Given the description of an element on the screen output the (x, y) to click on. 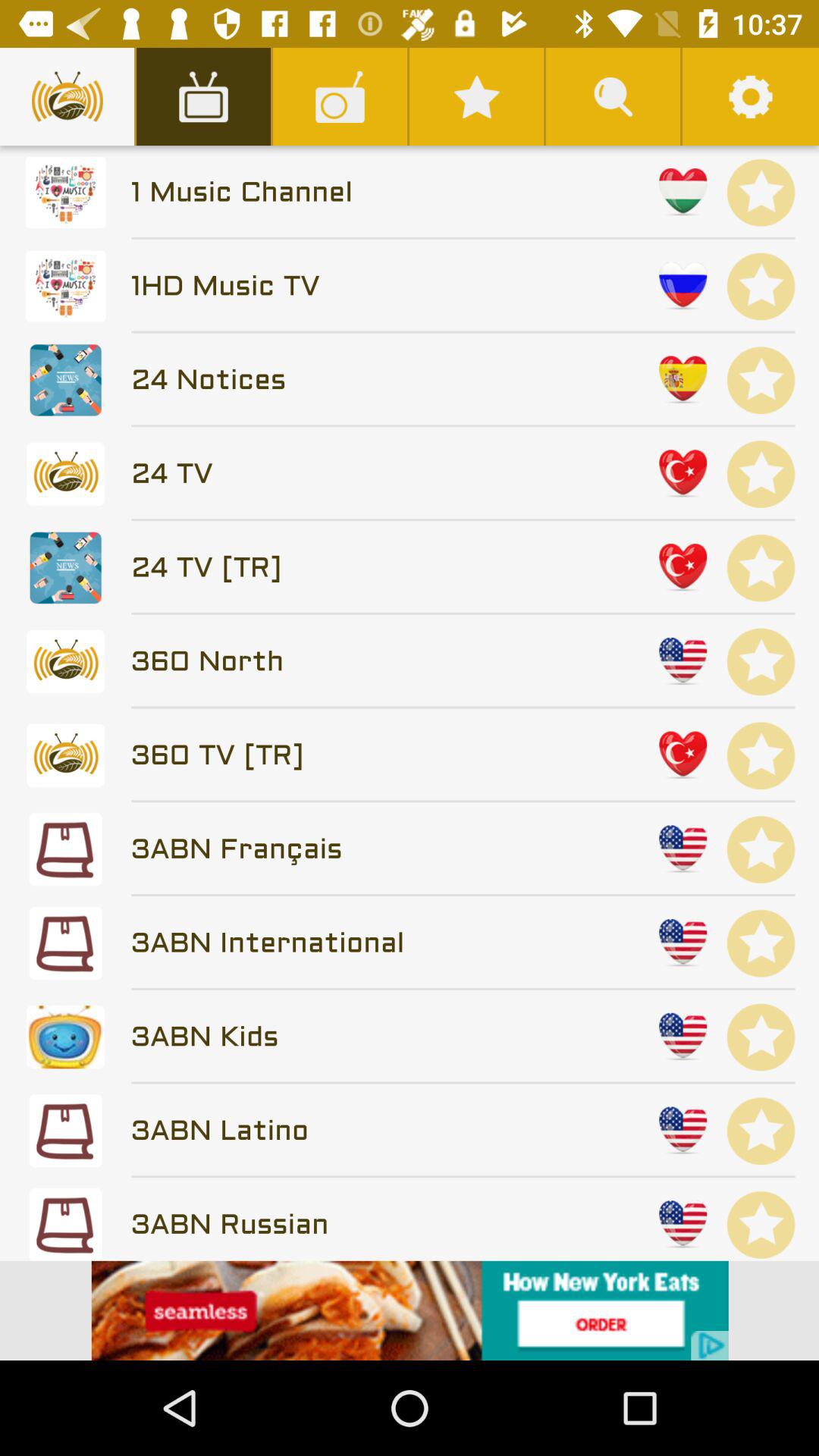
open the advertisement (409, 1310)
